Given the description of an element on the screen output the (x, y) to click on. 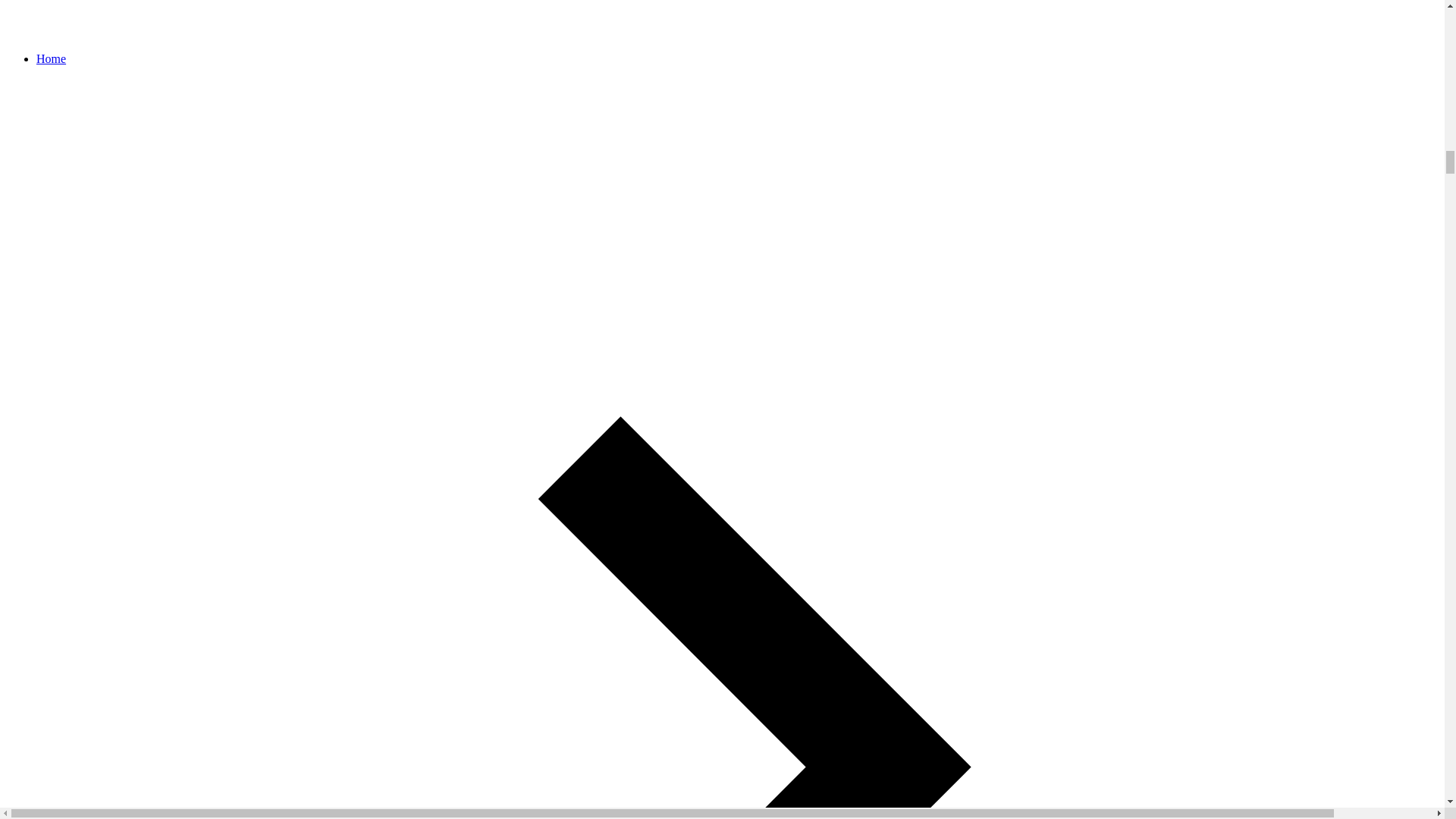
Home (50, 58)
Contact us (721, 19)
